Given the description of an element on the screen output the (x, y) to click on. 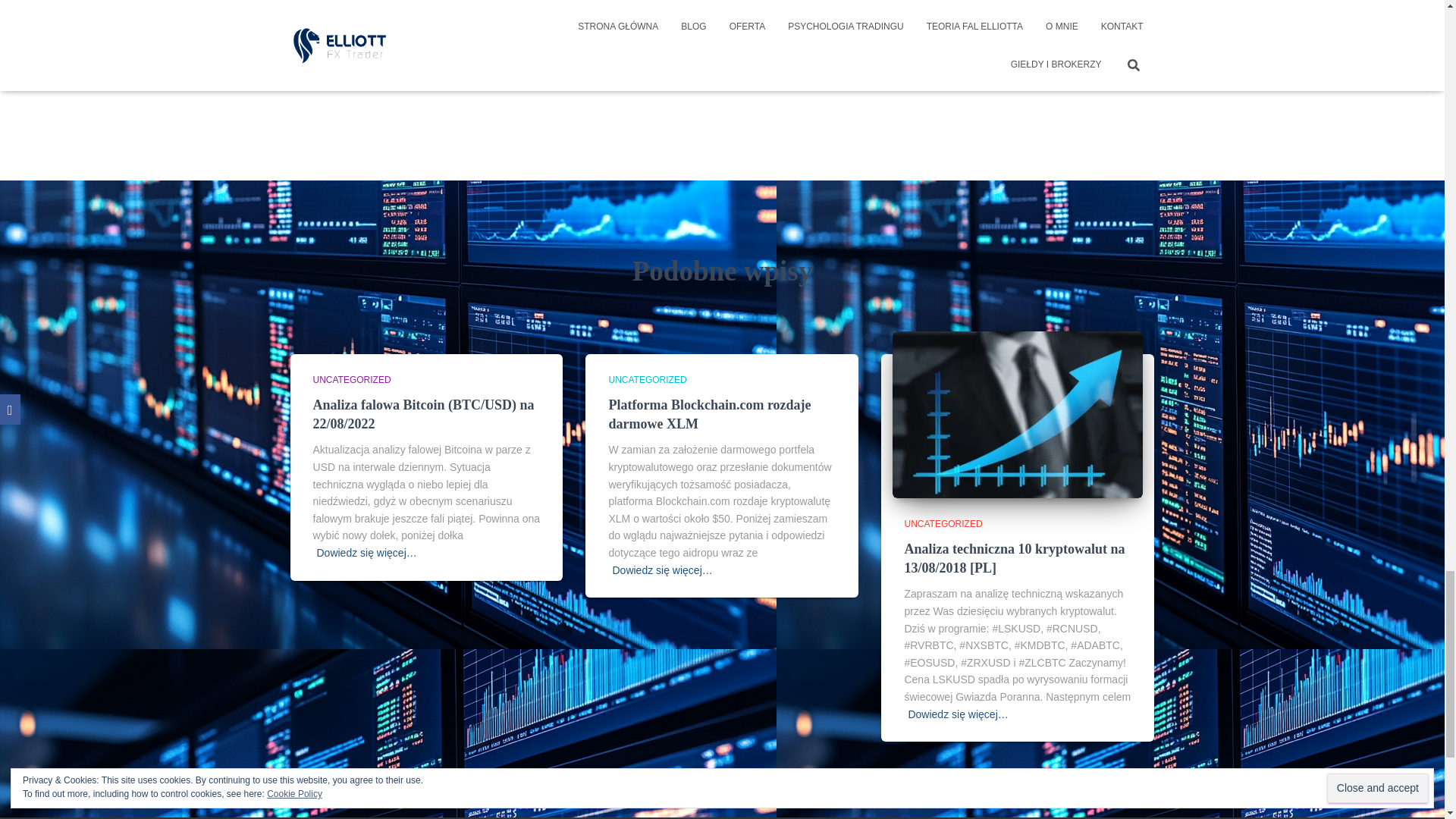
Opublikuj komentarz (925, 19)
Opublikuj komentarz (925, 19)
UNCATEGORIZED (351, 379)
